Given the description of an element on the screen output the (x, y) to click on. 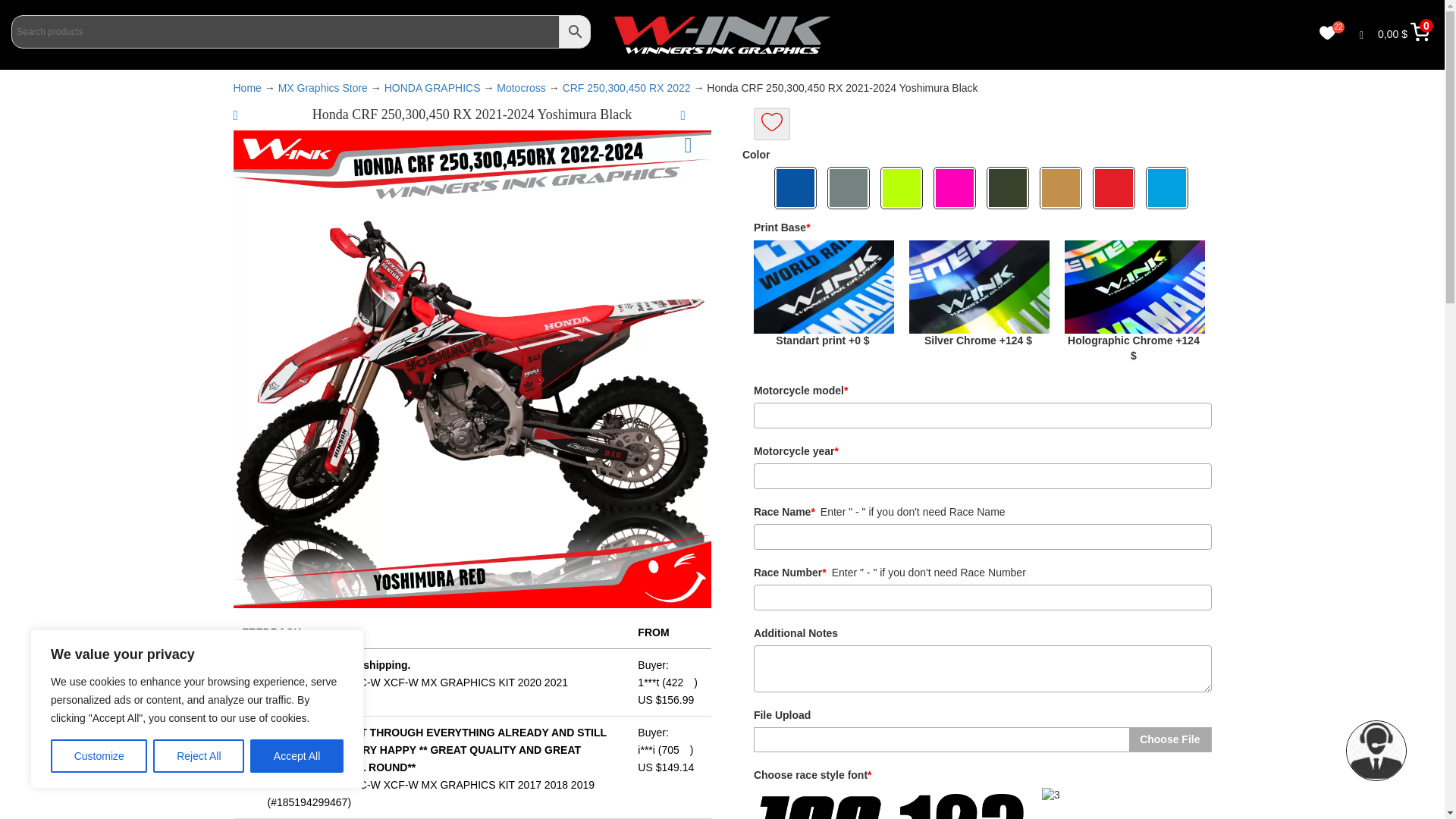
MX Graphics Store (323, 87)
CRF 250,300,450 RX 2022 (626, 87)
Home (247, 87)
Accept All (296, 756)
HONDA GRAPHICS (432, 87)
Customize (98, 756)
Lime (903, 188)
HONDA GRAPHICS (432, 87)
Motocross (521, 87)
Sky (1168, 188)
